Given the description of an element on the screen output the (x, y) to click on. 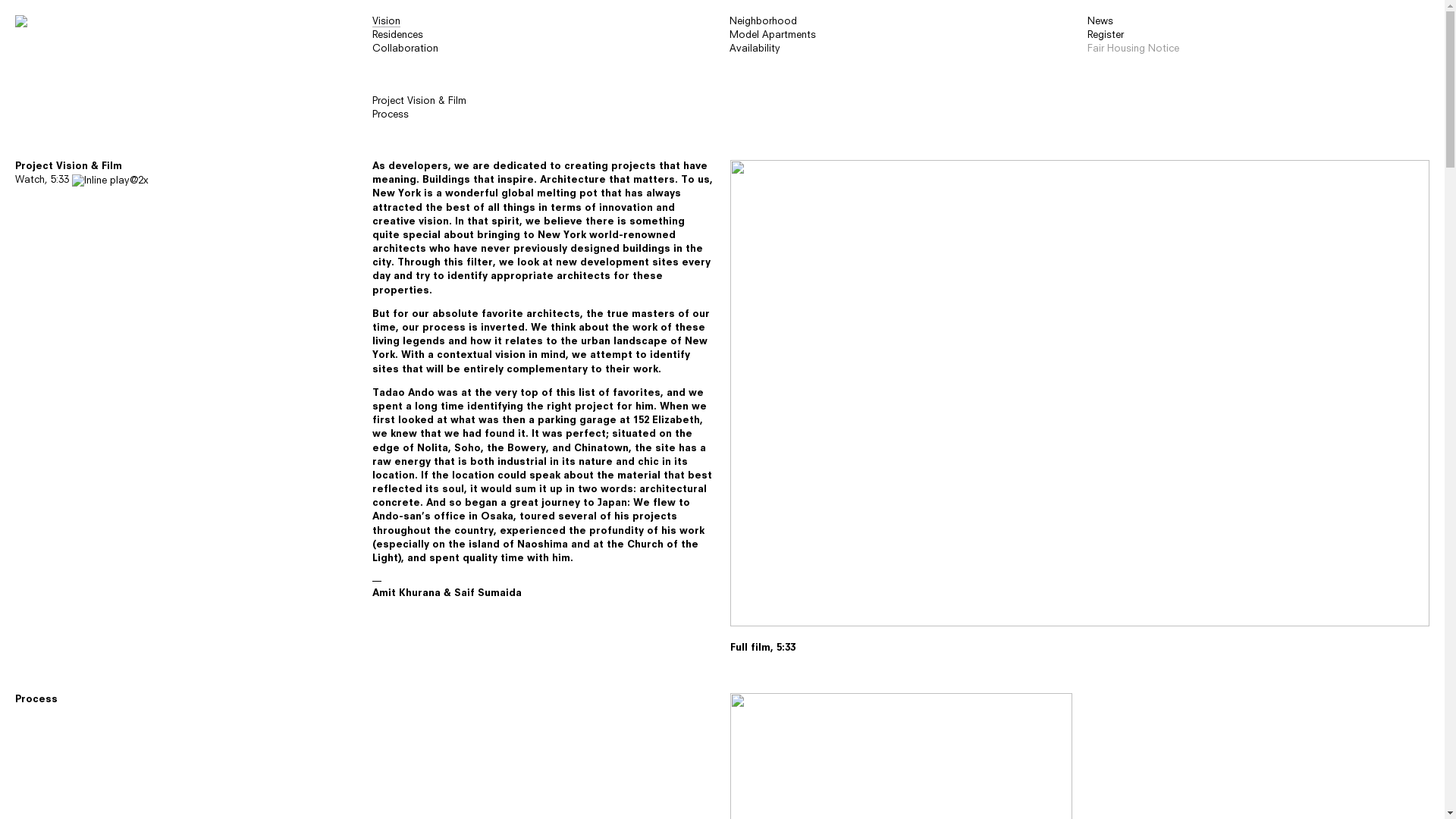
Compass Element type: text (525, 762)
Fair Housing Notice Element type: text (1137, 669)
Collaboration Element type: text (401, 669)
Register Element type: text (1109, 655)
Register Element type: text (1105, 35)
M18 Element type: text (455, 790)
(917) 699 3724 Element type: text (455, 748)
Vision Element type: text (386, 21)
Project Vision & Film Element type: text (419, 101)
Process Element type: text (390, 114)
Fair Housing Notice Element type: text (1133, 48)
Legal Disclaimer & Privacy Policy Element type: text (444, 804)
Vision Element type: text (382, 642)
Neighborhood Element type: text (763, 21)
Availability Element type: text (754, 48)
Availability Element type: text (754, 669)
Neighborhood Element type: text (763, 641)
Residences Element type: text (397, 35)
News Element type: text (1104, 641)
Residences Element type: text (393, 655)
Watch, 5:33 Element type: text (81, 180)
debra.lachance@compass.com Element type: text (521, 721)
Top Element type: text (24, 642)
Model Apartments Element type: text (772, 35)
Collaboration Element type: text (405, 48)
Model Apartments Element type: text (772, 655)
press@152elizabethst.com Element type: text (499, 735)
News Element type: text (1100, 21)
